Given the description of an element on the screen output the (x, y) to click on. 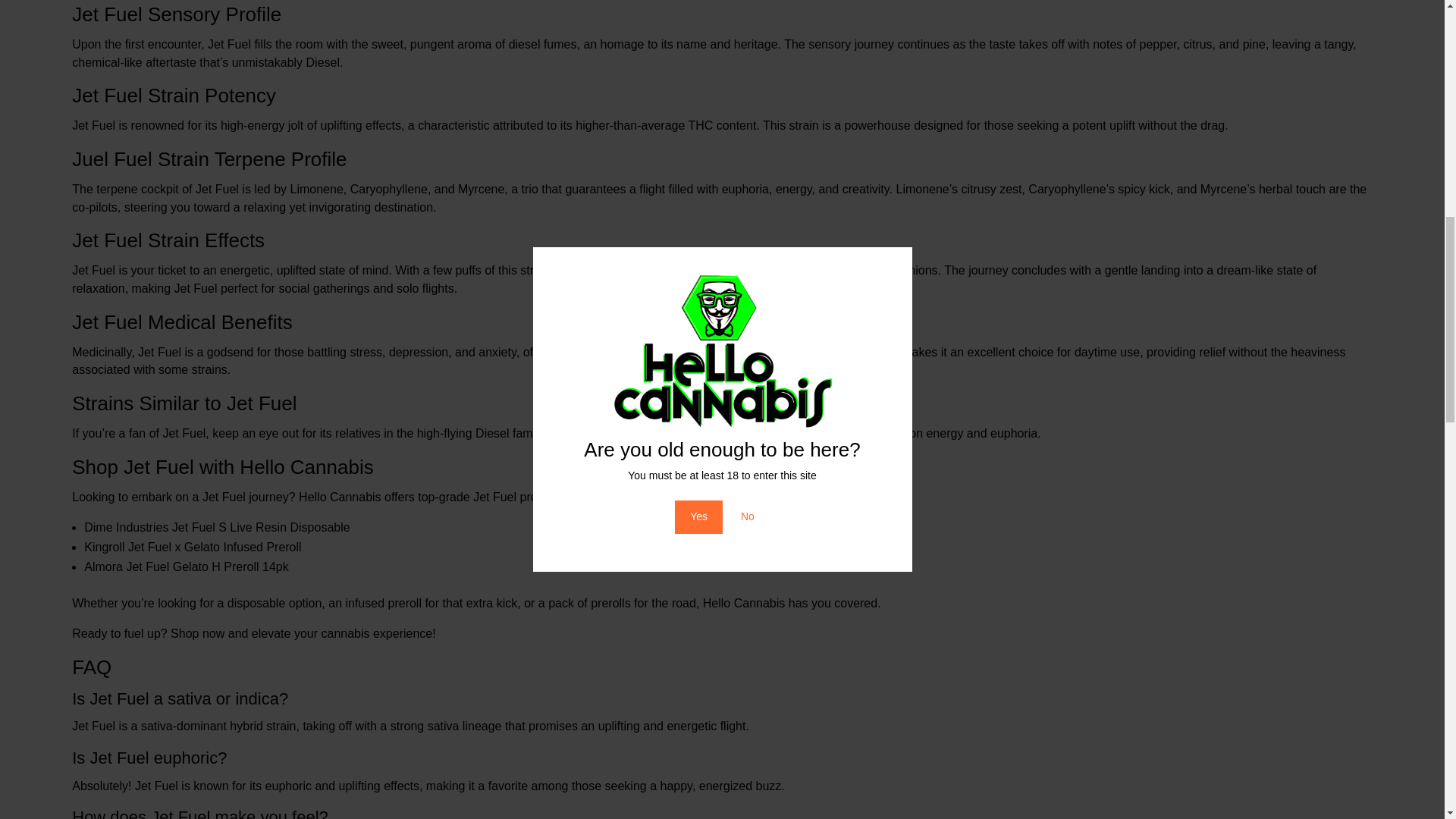
Dime Industries Jet Fuel S Live Resin Disposable (216, 526)
Kingroll Jet Fuel x Gelato Infused Preroll (192, 546)
Almora Jet Fuel Gelato H Preroll 14pk (186, 566)
